Given the description of an element on the screen output the (x, y) to click on. 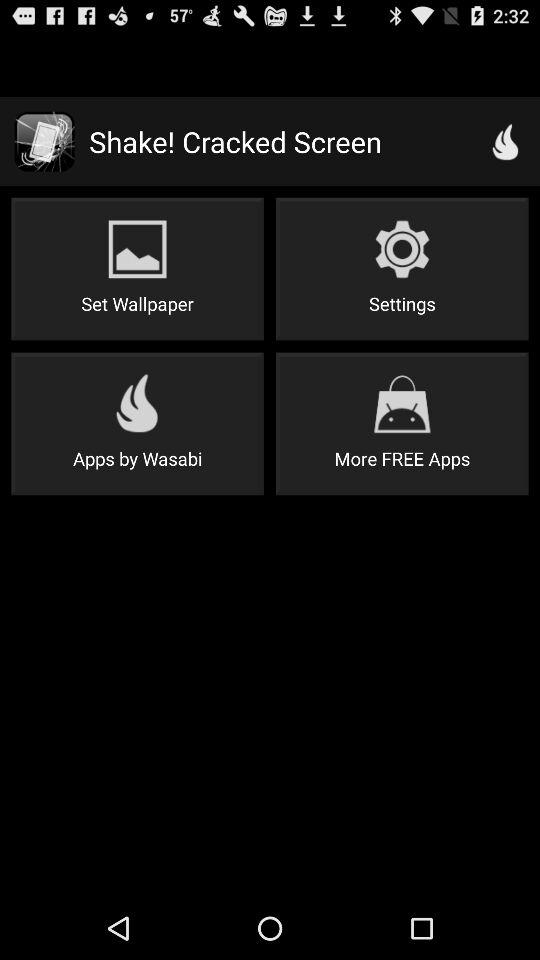
tap button to the left of more free apps icon (137, 423)
